Given the description of an element on the screen output the (x, y) to click on. 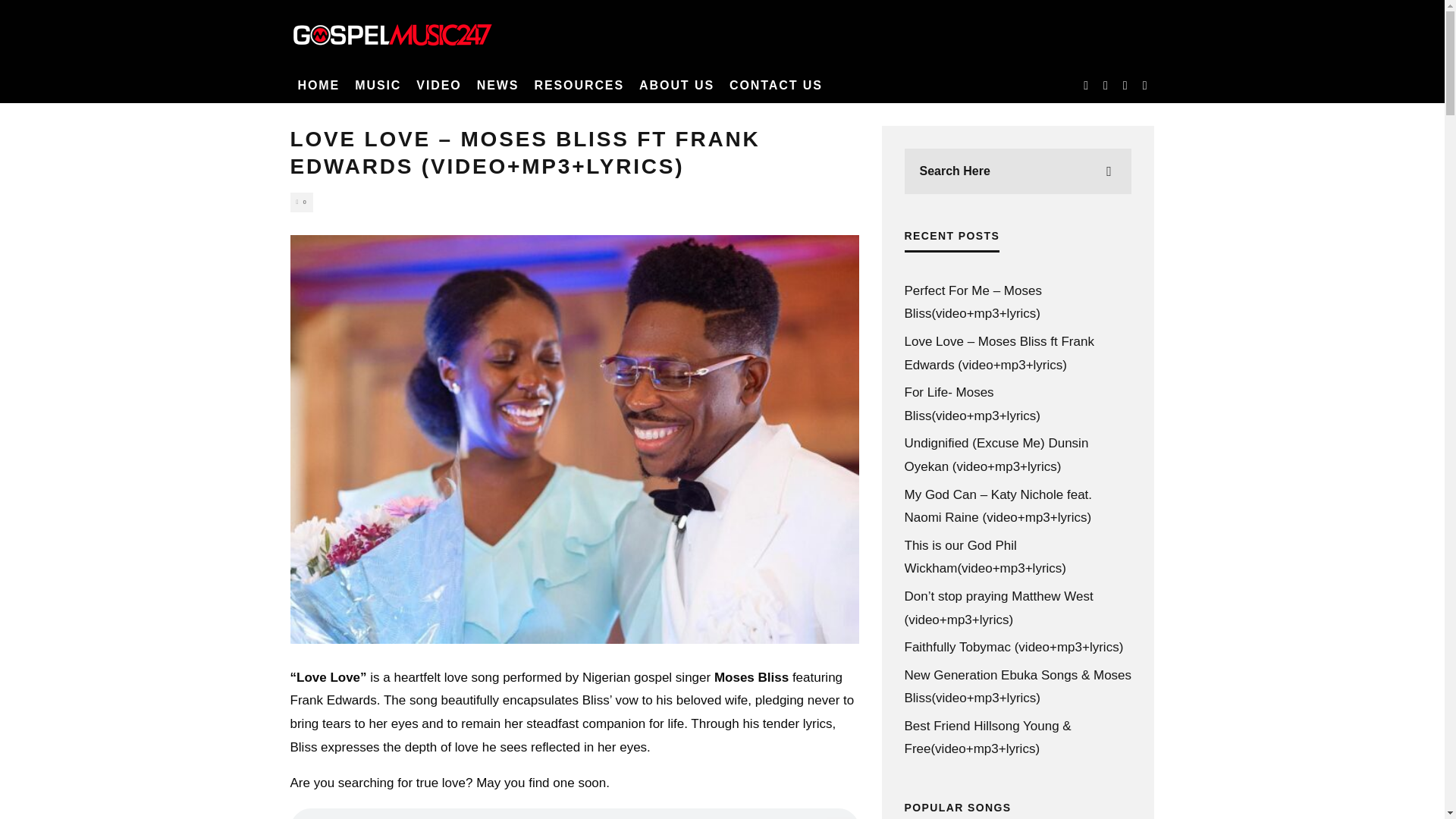
NEWS (497, 85)
VIDEO (438, 85)
HOME (318, 85)
RESOURCES (578, 85)
ABOUT US (676, 85)
CONTACT US (775, 85)
MUSIC (378, 85)
0 (301, 202)
